Given the description of an element on the screen output the (x, y) to click on. 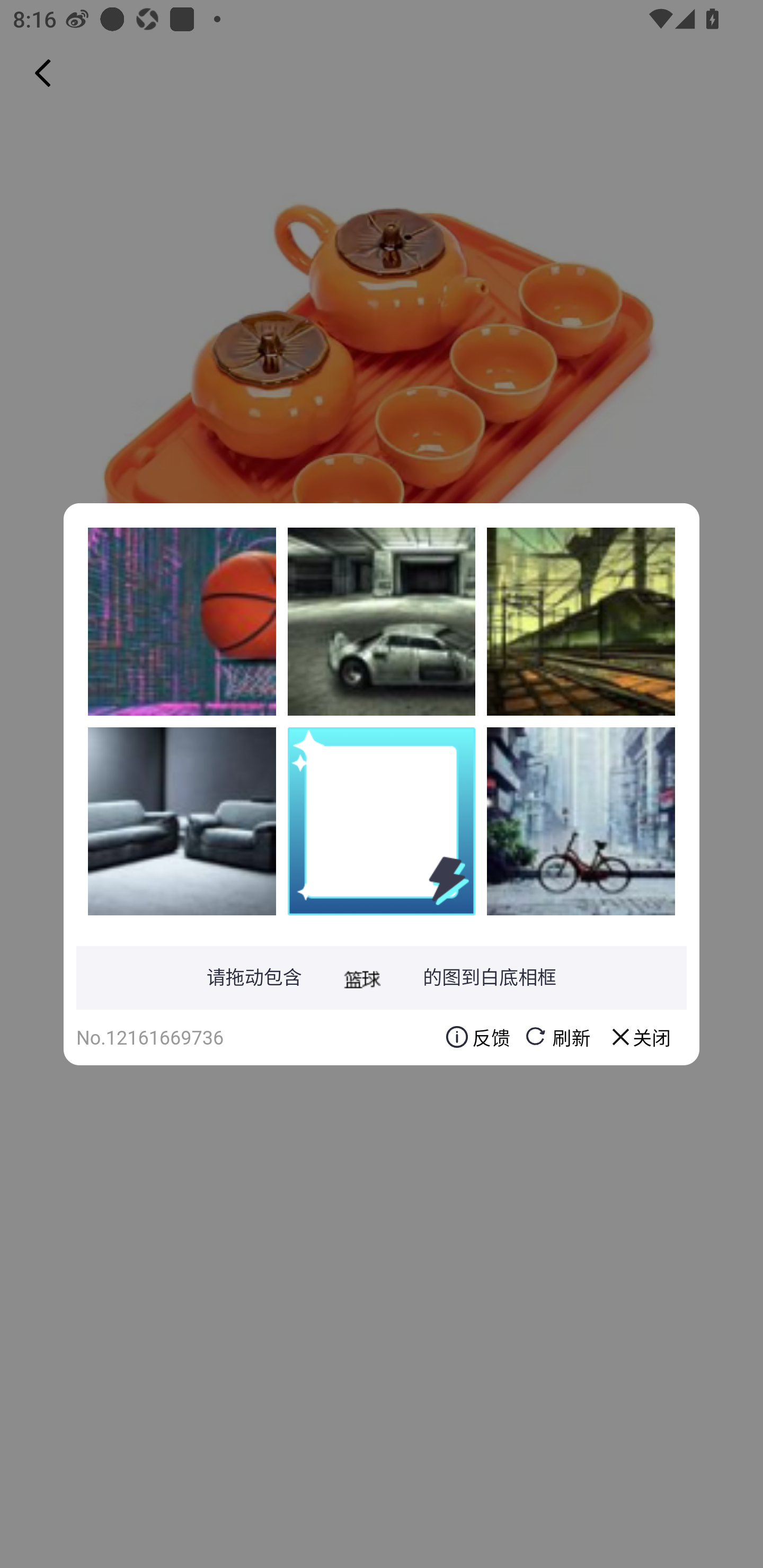
99yL2239G69i9WC (181, 621)
jB5yEhuYVN0EJEHPvxCYZm3izPmYpFuZyX (181, 820)
